Given the description of an element on the screen output the (x, y) to click on. 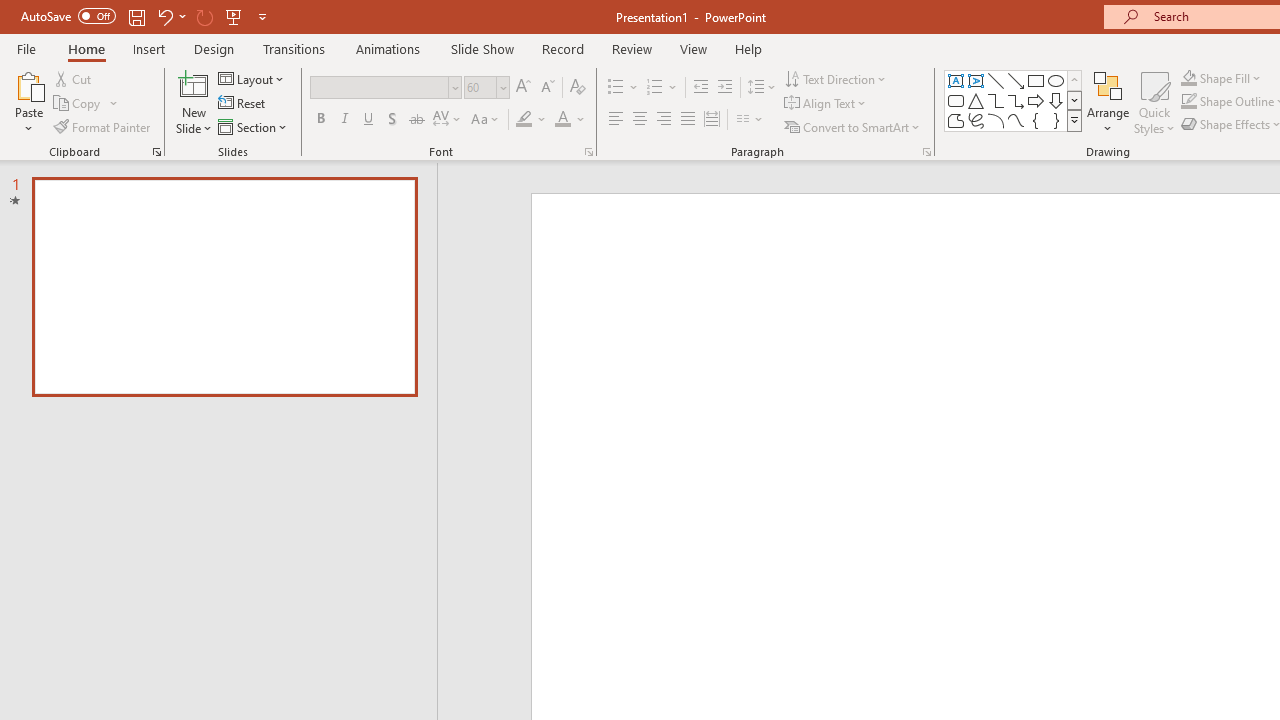
Shape Fill Orange, Accent 2 (1188, 78)
Shape Fill (1221, 78)
Curve (1016, 120)
Connector: Elbow Arrow (1016, 100)
Copy (78, 103)
Line Arrow (1016, 80)
Vertical Text Box (975, 80)
Reset (243, 103)
Bullets (623, 87)
Align Right (663, 119)
Font (379, 87)
